Given the description of an element on the screen output the (x, y) to click on. 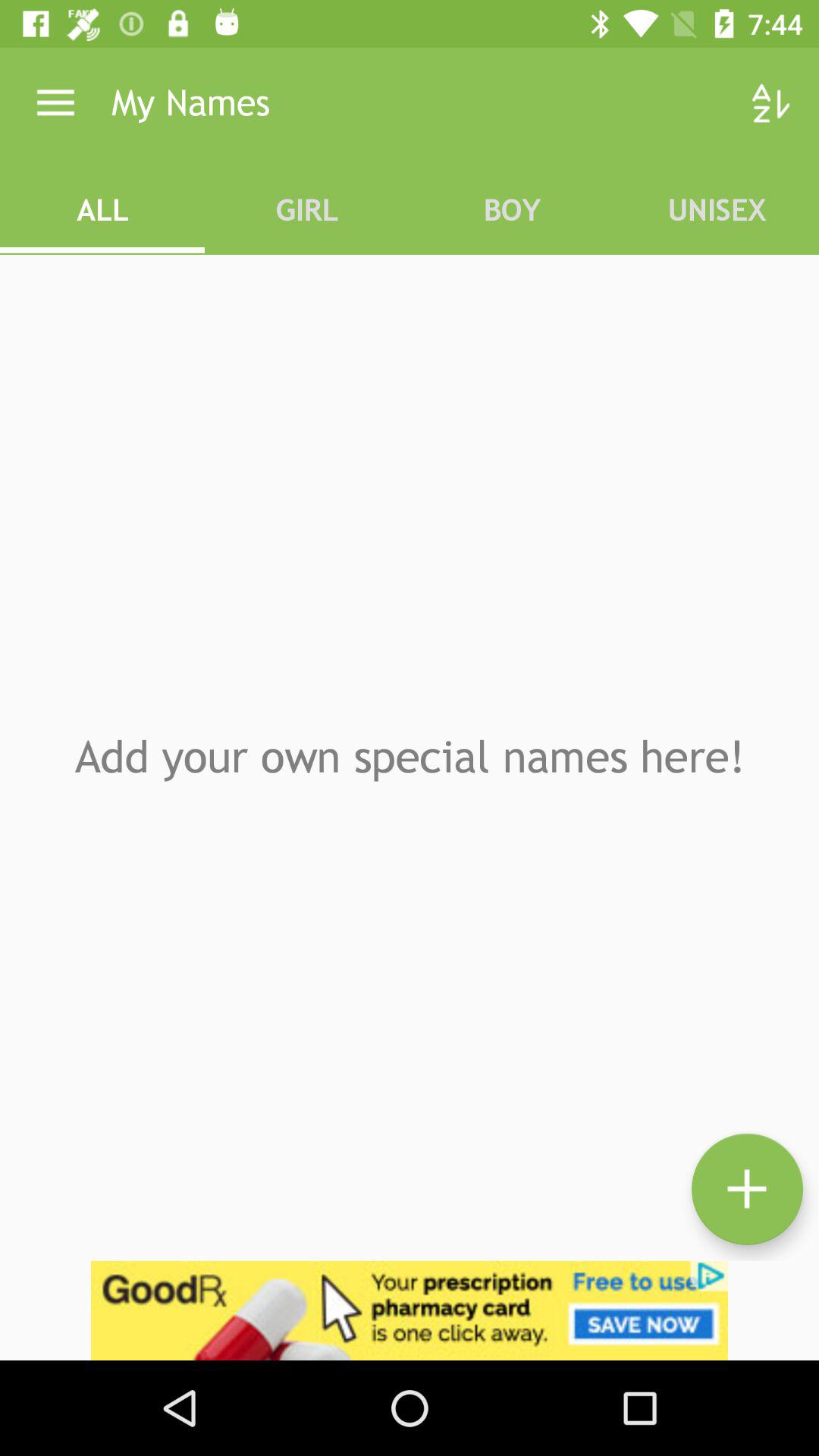
go to advertisements website (409, 1310)
